Given the description of an element on the screen output the (x, y) to click on. 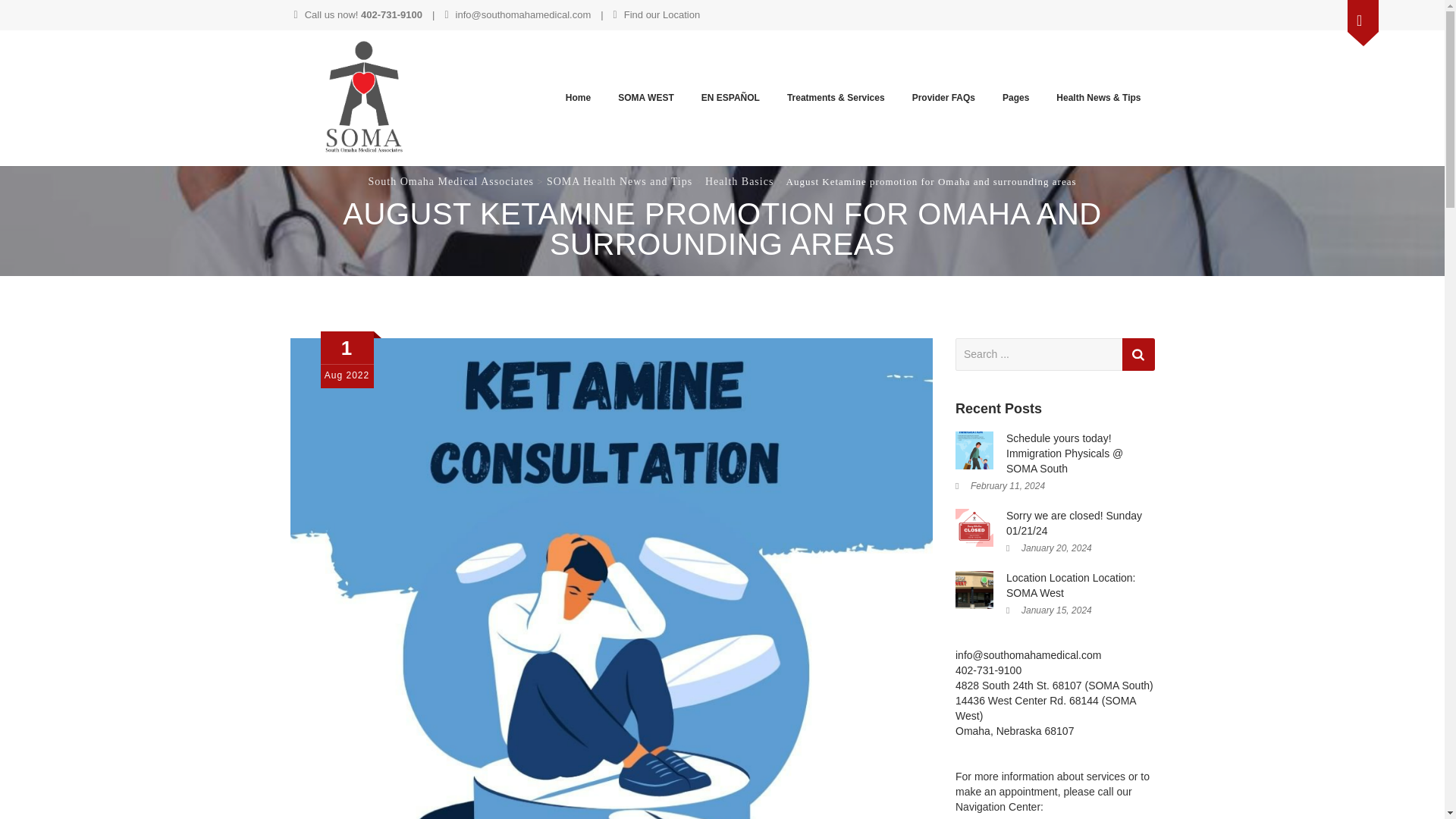
Go to SOMA Health News and Tips. (620, 181)
Open address in Google Maps (1054, 708)
Search (1138, 354)
South Omaha Medical Associates (451, 181)
Find our Location (656, 14)
Health Basics (738, 181)
Go to South Omaha Medical Associates. (451, 181)
Search for: (1054, 354)
Go to the Health Basics Category archives. (738, 181)
SOMA Health News and Tips (620, 181)
South Omaha Medical Associates (366, 98)
Search (1138, 354)
